Given the description of an element on the screen output the (x, y) to click on. 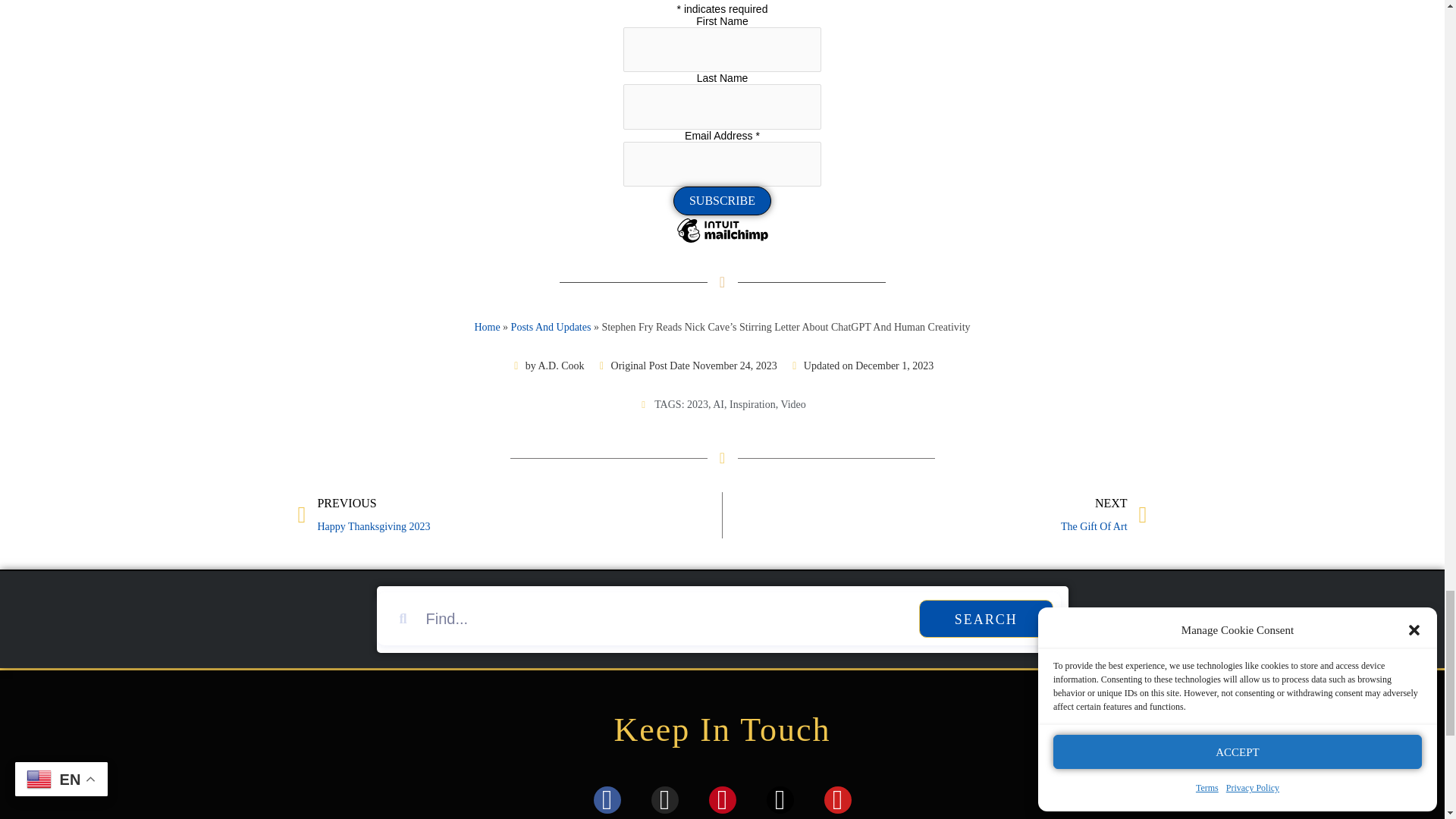
Subscribe (721, 200)
